Given the description of an element on the screen output the (x, y) to click on. 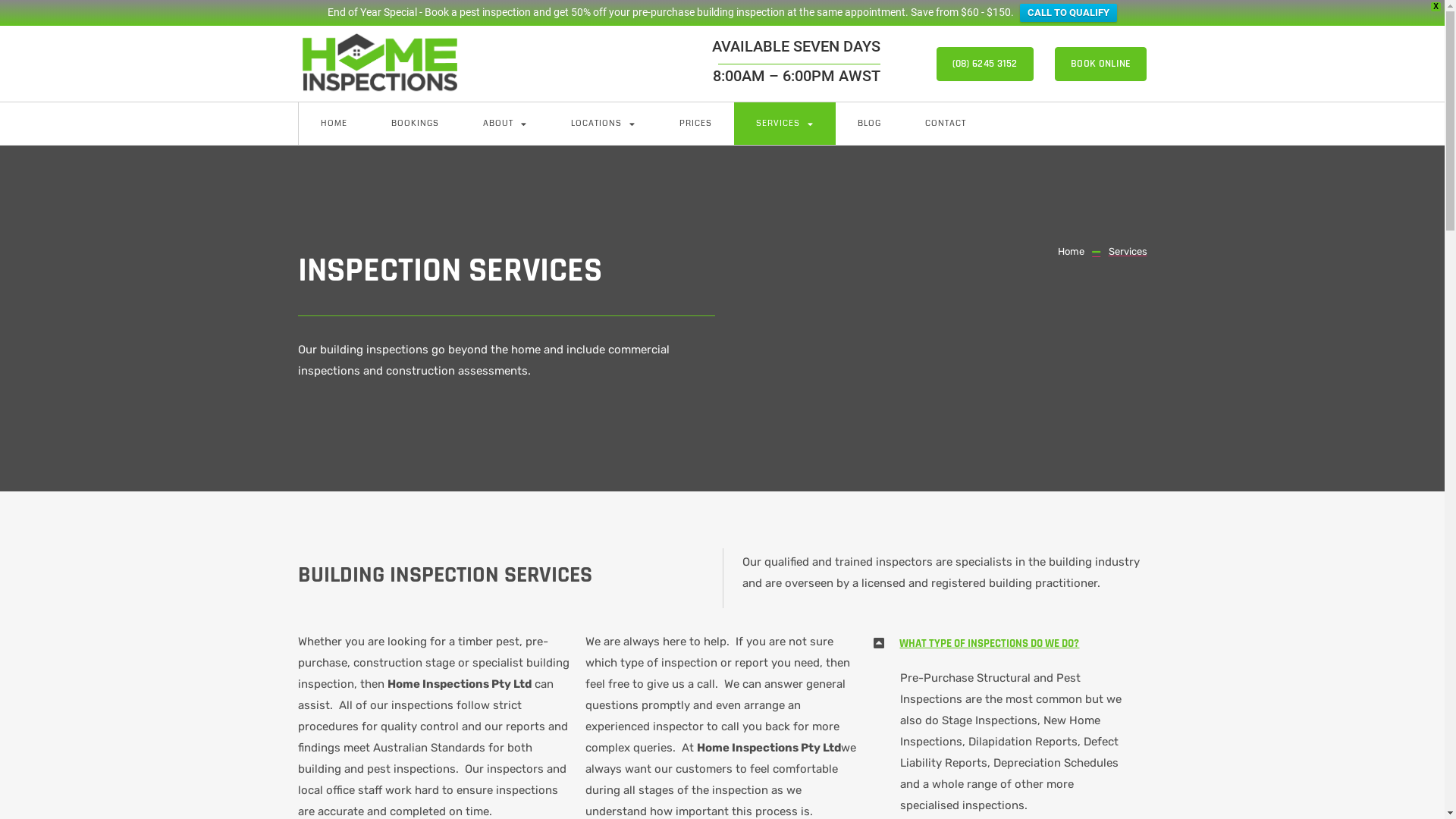
CONTACT Element type: text (944, 123)
HOME Element type: text (333, 123)
PRICES Element type: text (694, 123)
(08) 6245 3152 Element type: text (984, 64)
BOOK ONLINE Element type: text (1100, 64)
ABOUT Element type: text (505, 123)
Services Element type: text (1119, 251)
BLOG Element type: text (869, 123)
LOCATIONS Element type: text (603, 123)
SERVICES Element type: text (784, 123)
CALL TO QUALIFY Element type: text (1068, 12)
WHAT TYPE OF INSPECTIONS DO WE DO? Element type: text (989, 643)
BOOKINGS Element type: text (414, 123)
